Given the description of an element on the screen output the (x, y) to click on. 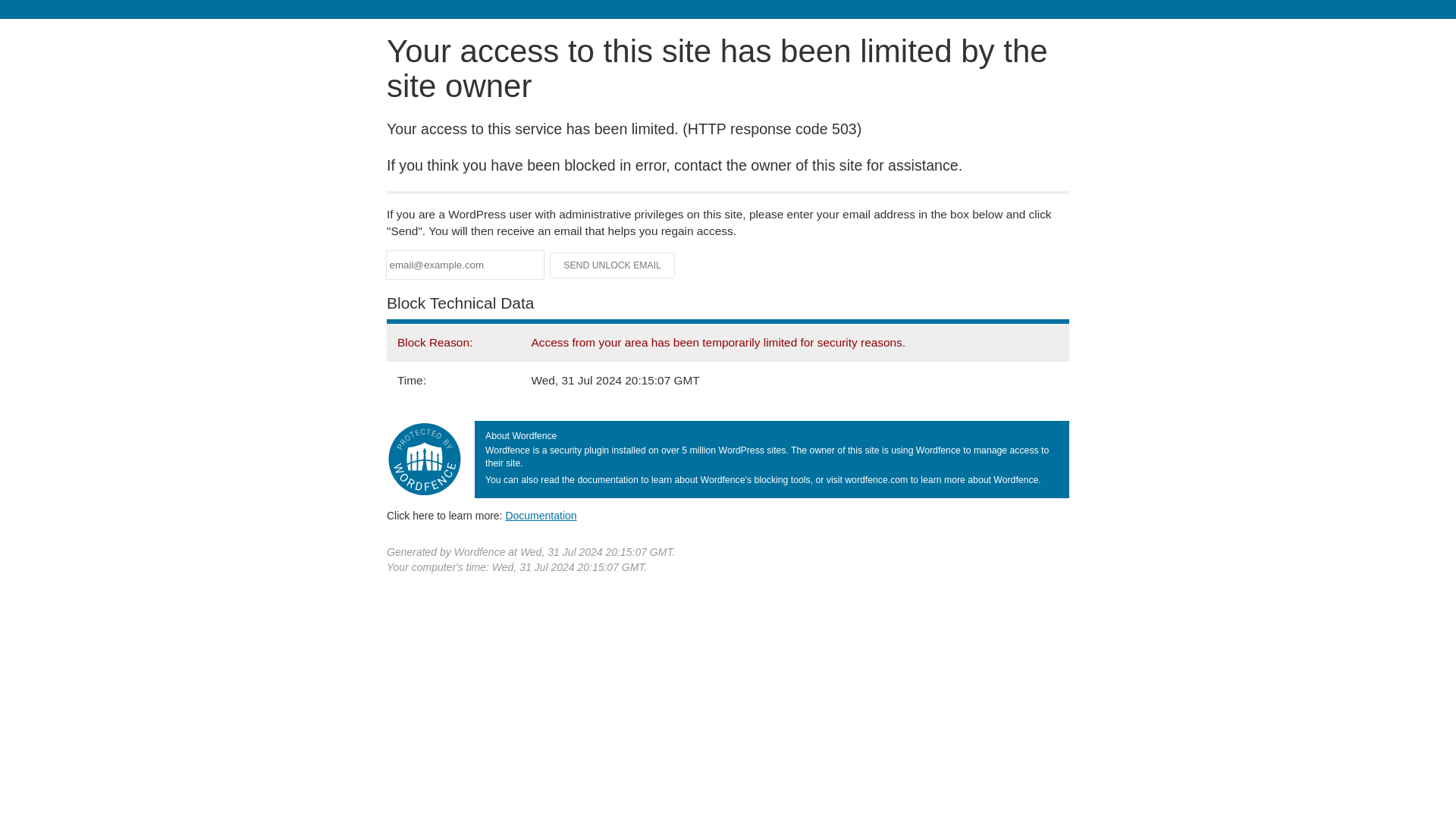
Documentation (540, 515)
Send Unlock Email (612, 265)
Send Unlock Email (612, 265)
